Given the description of an element on the screen output the (x, y) to click on. 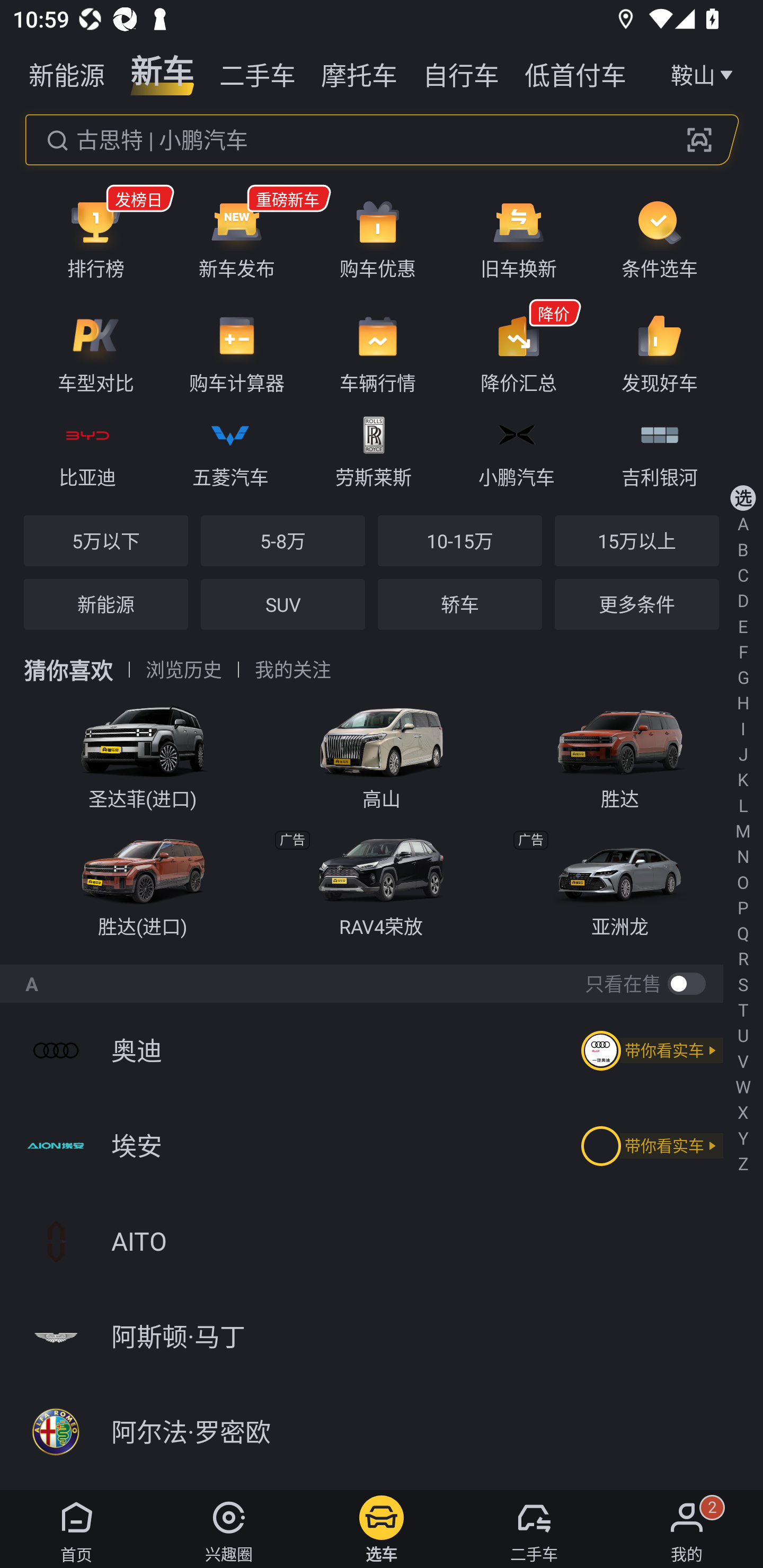
新能源 (66, 72)
新车 (161, 72)
二手车 (257, 72)
摩托车 (359, 72)
自行车 (460, 72)
低首付车 (575, 72)
鞍山 (703, 72)
发榜日 排行榜 (95, 238)
重磅新车 新车发布 (236, 238)
购车优惠 (377, 238)
旧车换新 (518, 238)
条件选车 (659, 238)
车型对比 (95, 352)
购车计算器 (236, 352)
车辆行情 (377, 352)
降价 降价汇总 (518, 352)
发现好车 (659, 352)
比亚迪 (87, 449)
五菱汽车 (230, 449)
劳斯莱斯 (373, 449)
小鹏汽车 (516, 449)
吉利银河 (659, 449)
5万以下 (105, 540)
5-8万 (282, 540)
10-15万 (459, 540)
15万以上 (636, 540)
新能源 (105, 604)
SUV (282, 604)
轿车 (459, 604)
更多条件 (636, 604)
猜你喜欢 (67, 669)
浏览历史 (183, 669)
我的关注 (292, 669)
圣达菲(进口) (142, 750)
高山 (381, 750)
胜达 (619, 750)
胜达(进口) (142, 881)
RAV4荣放 广告 (381, 881)
亚洲龙 广告 (619, 881)
奥迪 带你看实车  (381, 1050)
带你看实车  (649, 1050)
埃安 带你看实车  (381, 1145)
带你看实车  (649, 1146)
AITO (381, 1240)
阿斯顿·马丁 (381, 1336)
阿尔法·罗密欧 (381, 1432)
 首页 (76, 1528)
 兴趣圈 (228, 1528)
选车 (381, 1528)
 二手车 (533, 1528)
 我的 (686, 1528)
